Given the description of an element on the screen output the (x, y) to click on. 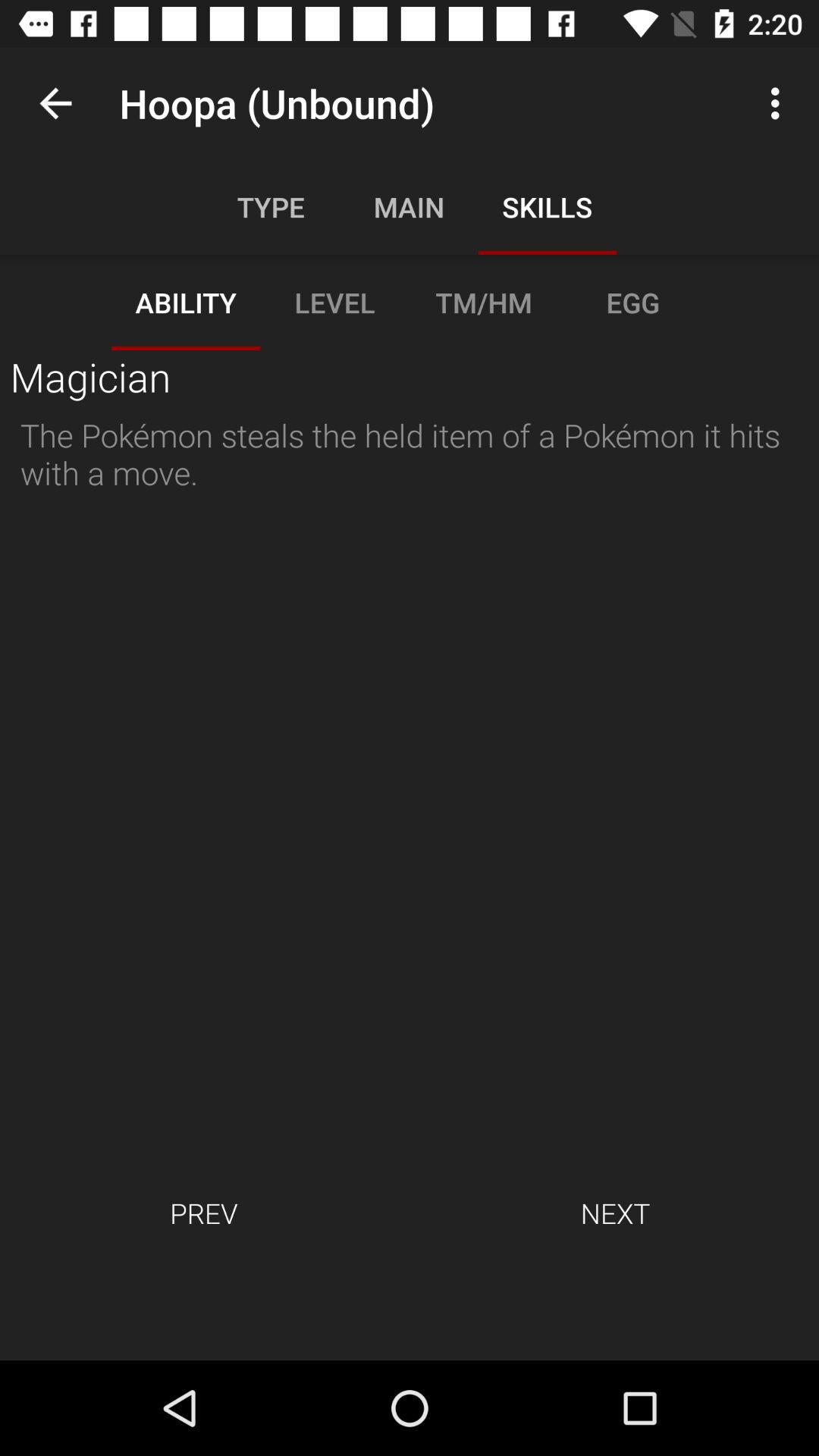
turn on icon below the prev item (409, 1310)
